Given the description of an element on the screen output the (x, y) to click on. 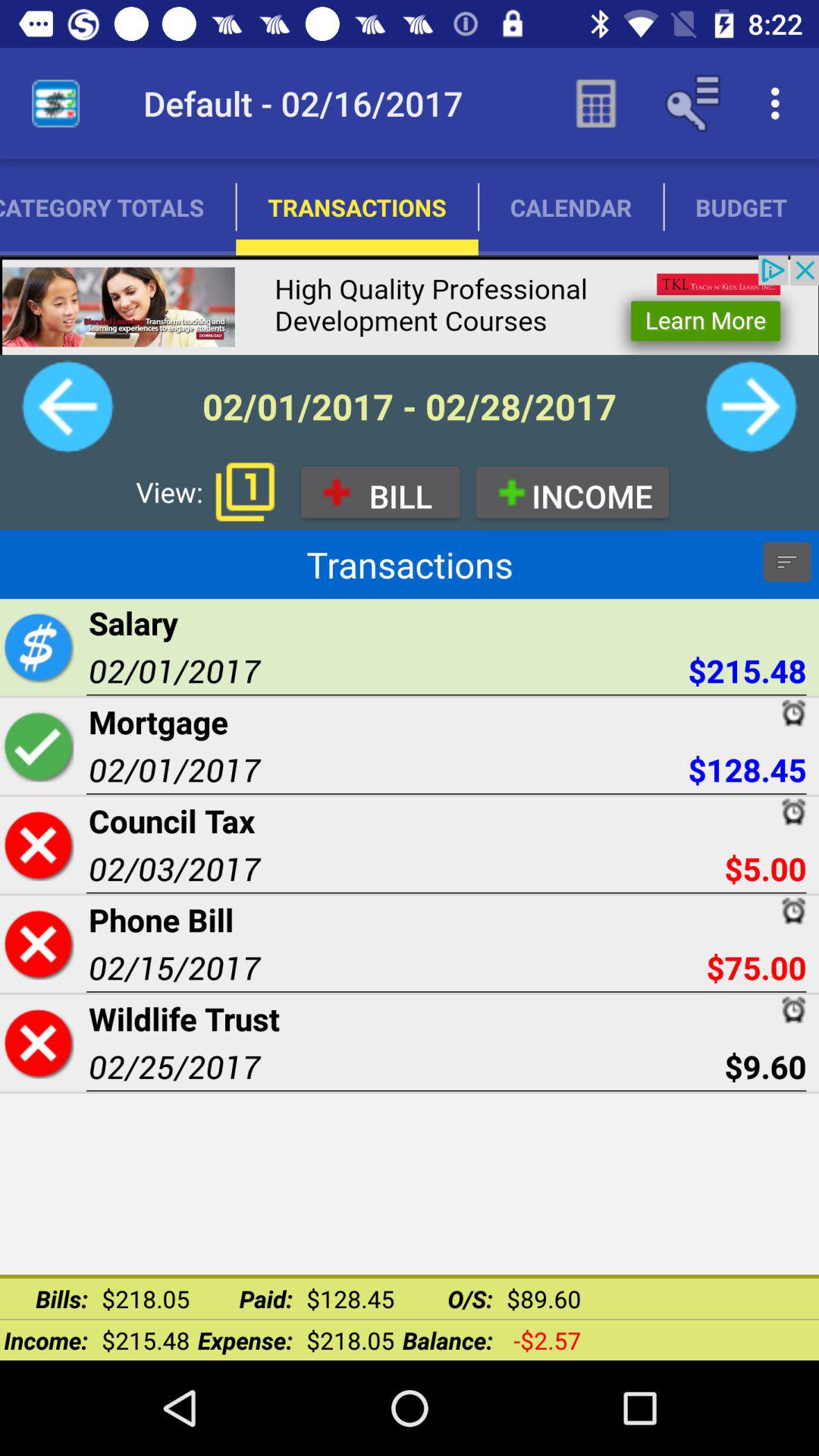
personal finance bill reminder and budgeting it helps you to keep track of your bills expenses (751, 406)
